Given the description of an element on the screen output the (x, y) to click on. 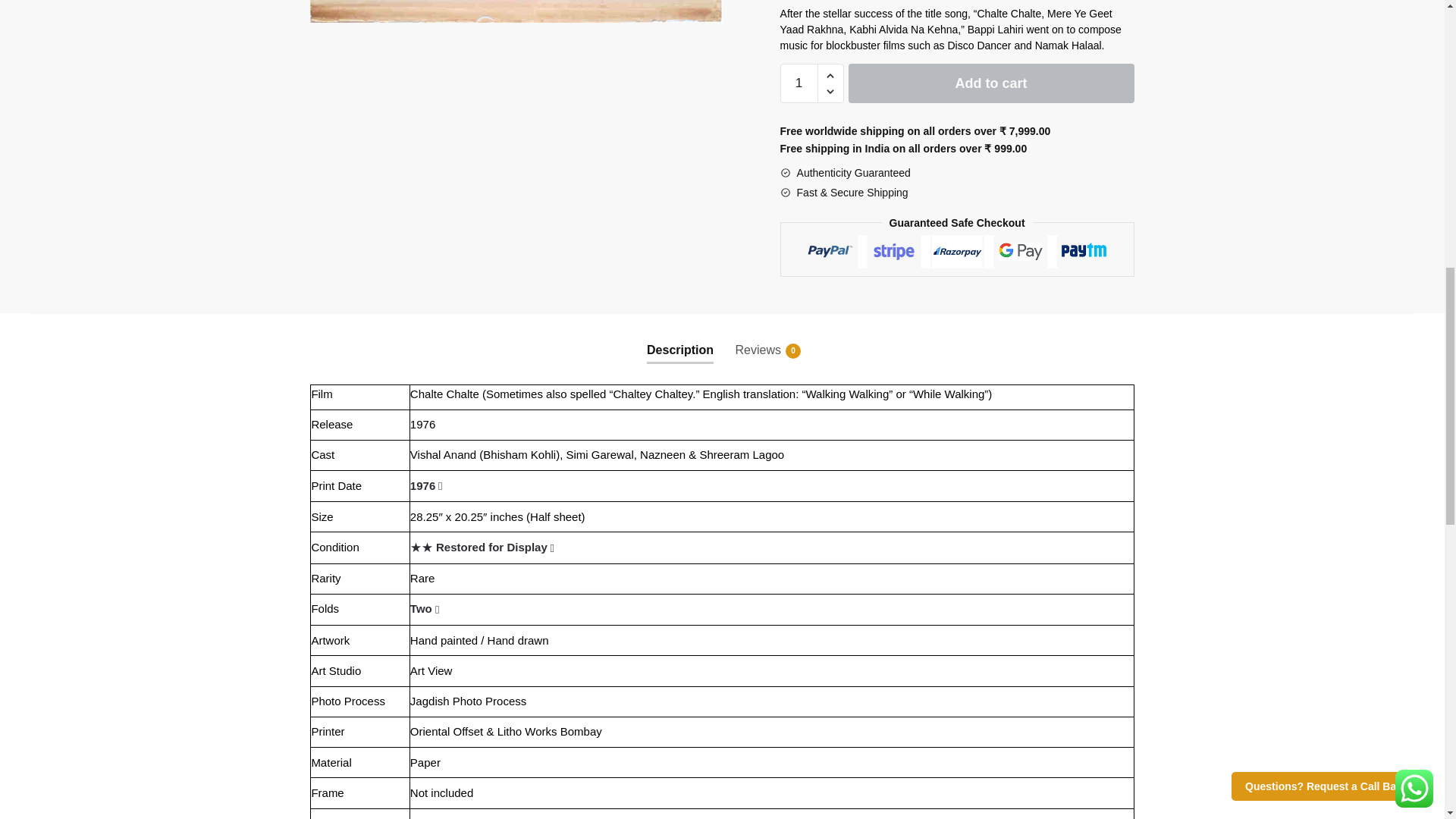
1 (799, 83)
